Given the description of an element on the screen output the (x, y) to click on. 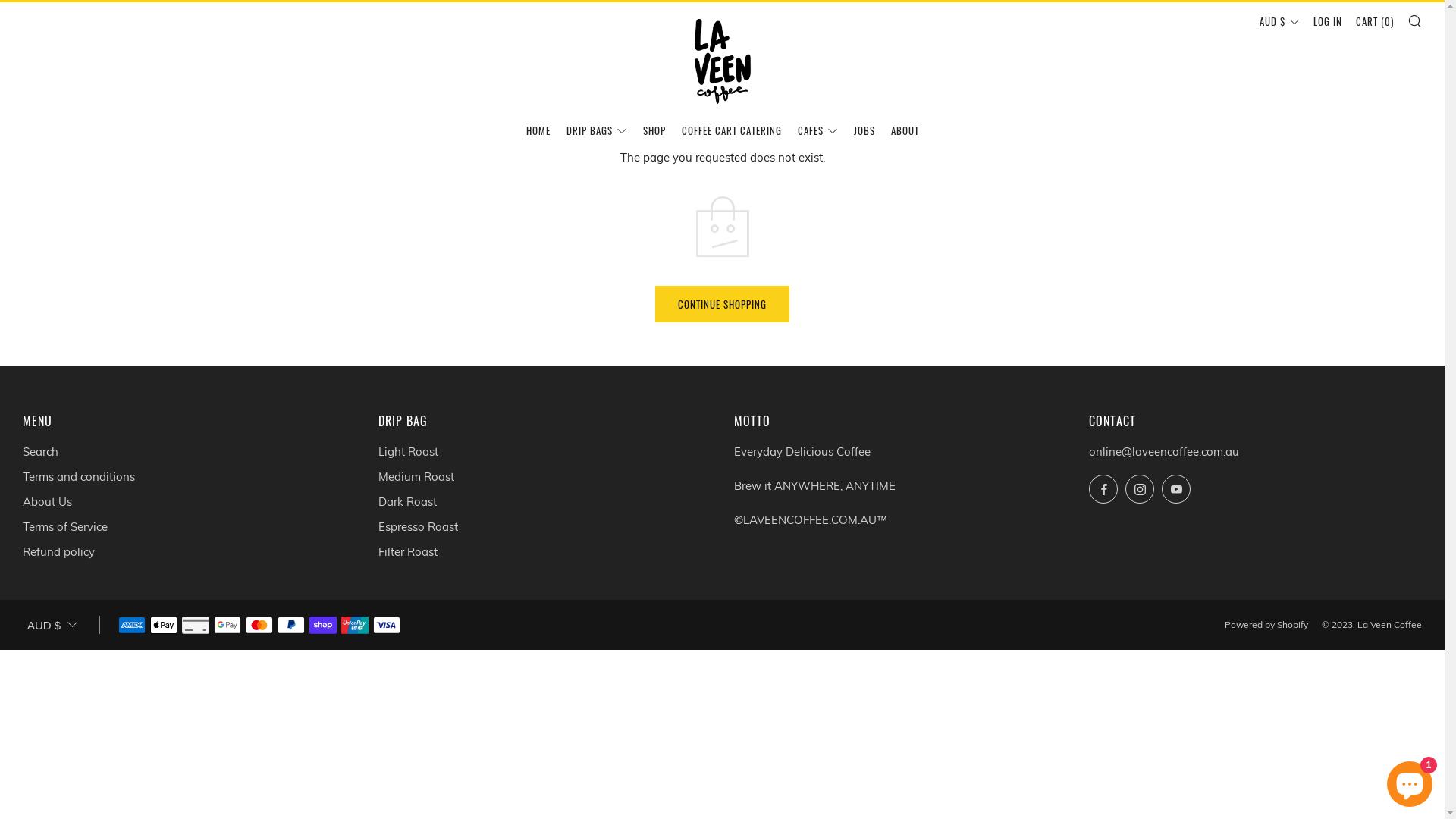
Terms of Service Element type: text (64, 526)
online@laveencoffee.com.au Element type: text (1163, 451)
SEARCH Element type: text (1414, 20)
CONTINUE SHOPPING Element type: text (722, 303)
Powered by Shopify Element type: text (1266, 624)
Light Roast Element type: text (408, 451)
Search Element type: text (40, 451)
COFFEE CART CATERING Element type: text (730, 130)
LOG IN Element type: text (1327, 21)
Filter Roast Element type: text (407, 551)
Facebook Element type: text (1102, 488)
DRIP BAGS Element type: text (595, 130)
AUD $ Element type: text (1279, 21)
Medium Roast Element type: text (416, 476)
Instagram Element type: text (1139, 488)
Refund policy Element type: text (58, 551)
ABOUT Element type: text (904, 130)
About Us Element type: text (47, 501)
HOME Element type: text (538, 130)
SHOP Element type: text (654, 130)
YouTube Element type: text (1175, 488)
CART (0) Element type: text (1374, 21)
AUD $ Element type: text (51, 625)
Terms and conditions Element type: text (78, 476)
Espresso Roast Element type: text (418, 526)
Shopify online store chat Element type: hover (1409, 780)
Dark Roast Element type: text (407, 501)
CAFES Element type: text (817, 130)
JOBS Element type: text (864, 130)
